Given the description of an element on the screen output the (x, y) to click on. 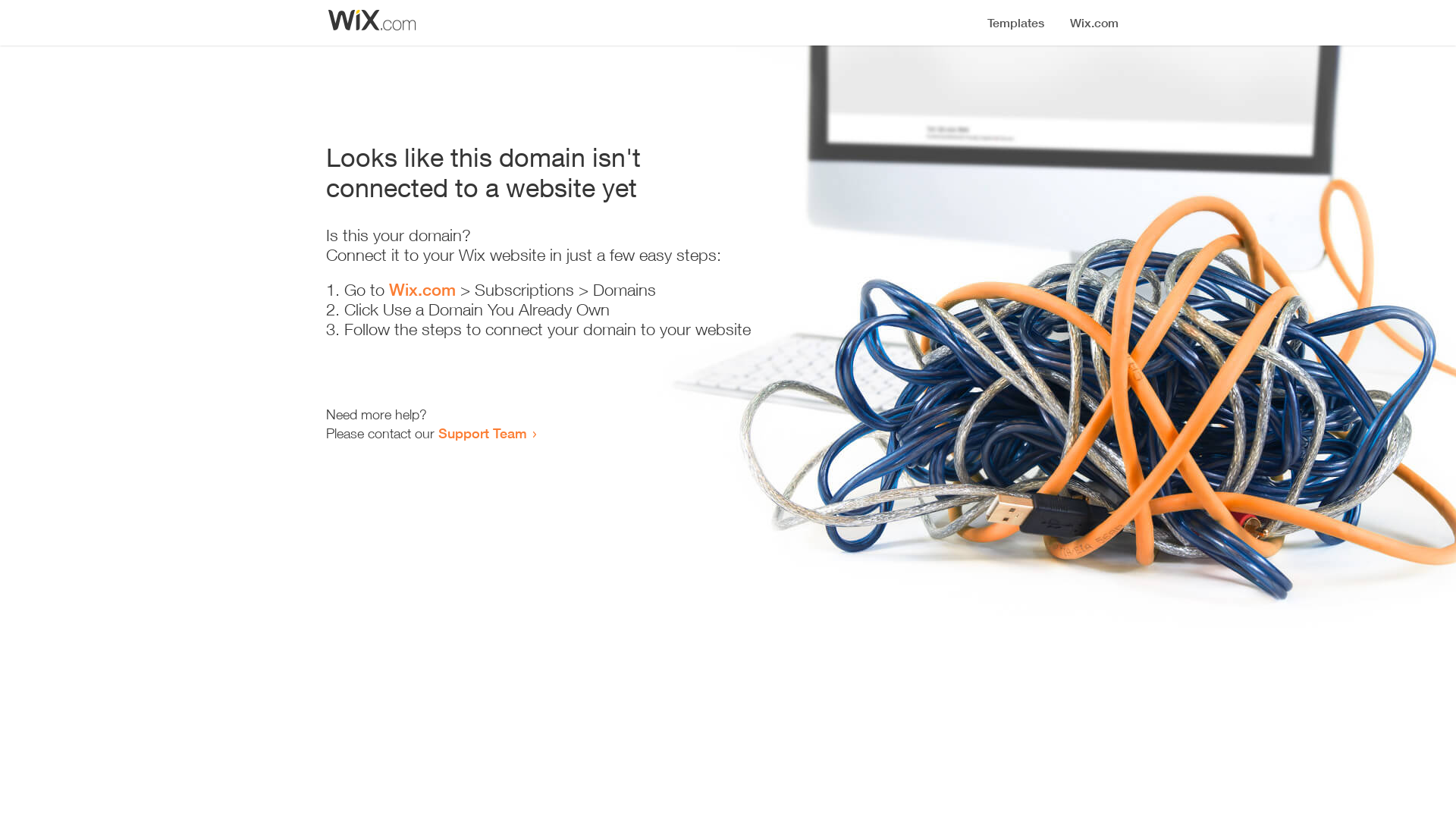
Support Team Element type: text (482, 432)
Wix.com Element type: text (422, 289)
